Given the description of an element on the screen output the (x, y) to click on. 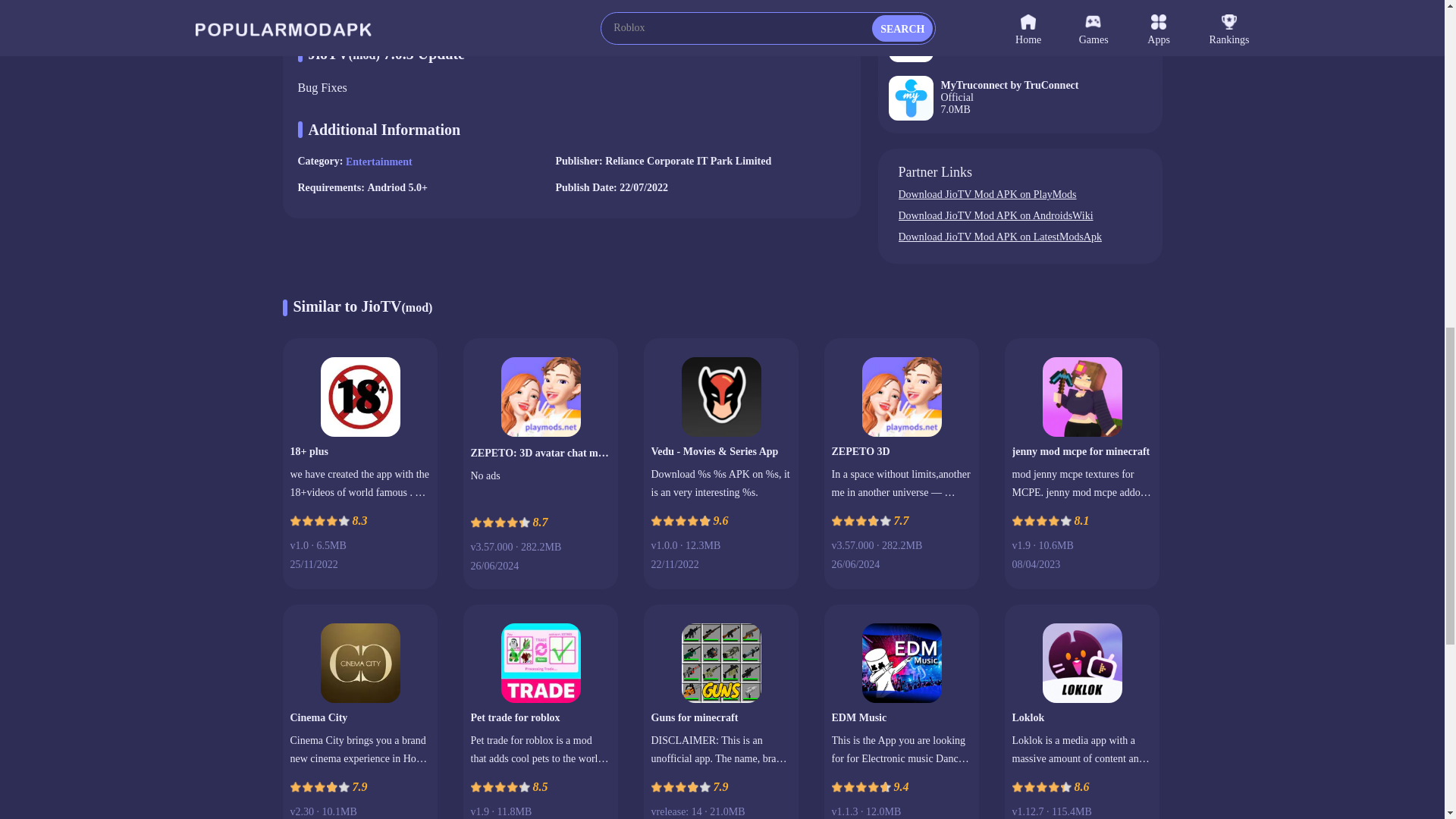
Download JioTV Mod APK on LatestModsApk (1019, 105)
Download JioTV Mod APK on PlayMods (1019, 237)
Entertainment (1019, 194)
Download JioTV Mod APK on AndroidsWiki (1019, 8)
